Given the description of an element on the screen output the (x, y) to click on. 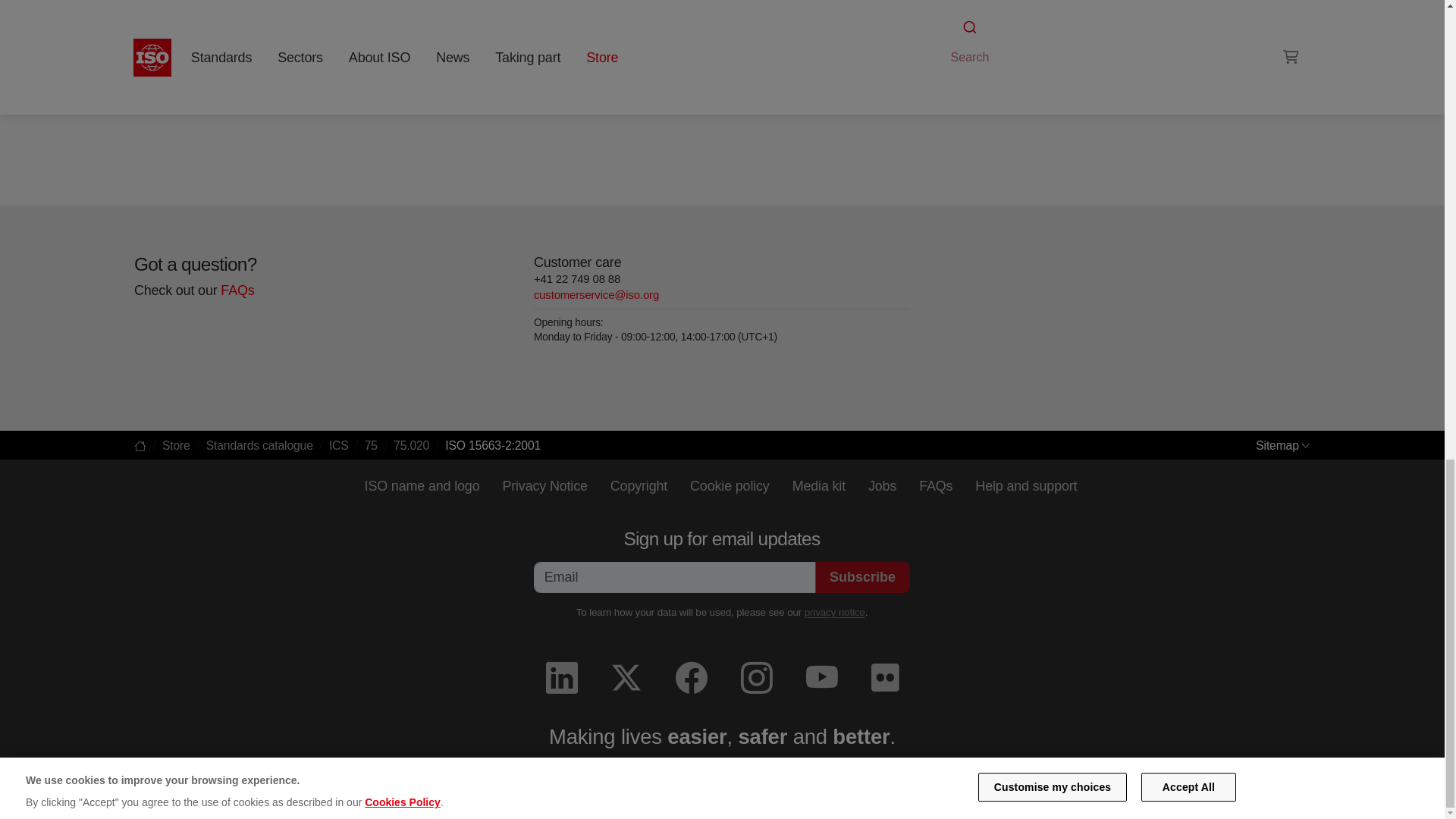
Stage: 95.99 (185, 85)
